Given the description of an element on the screen output the (x, y) to click on. 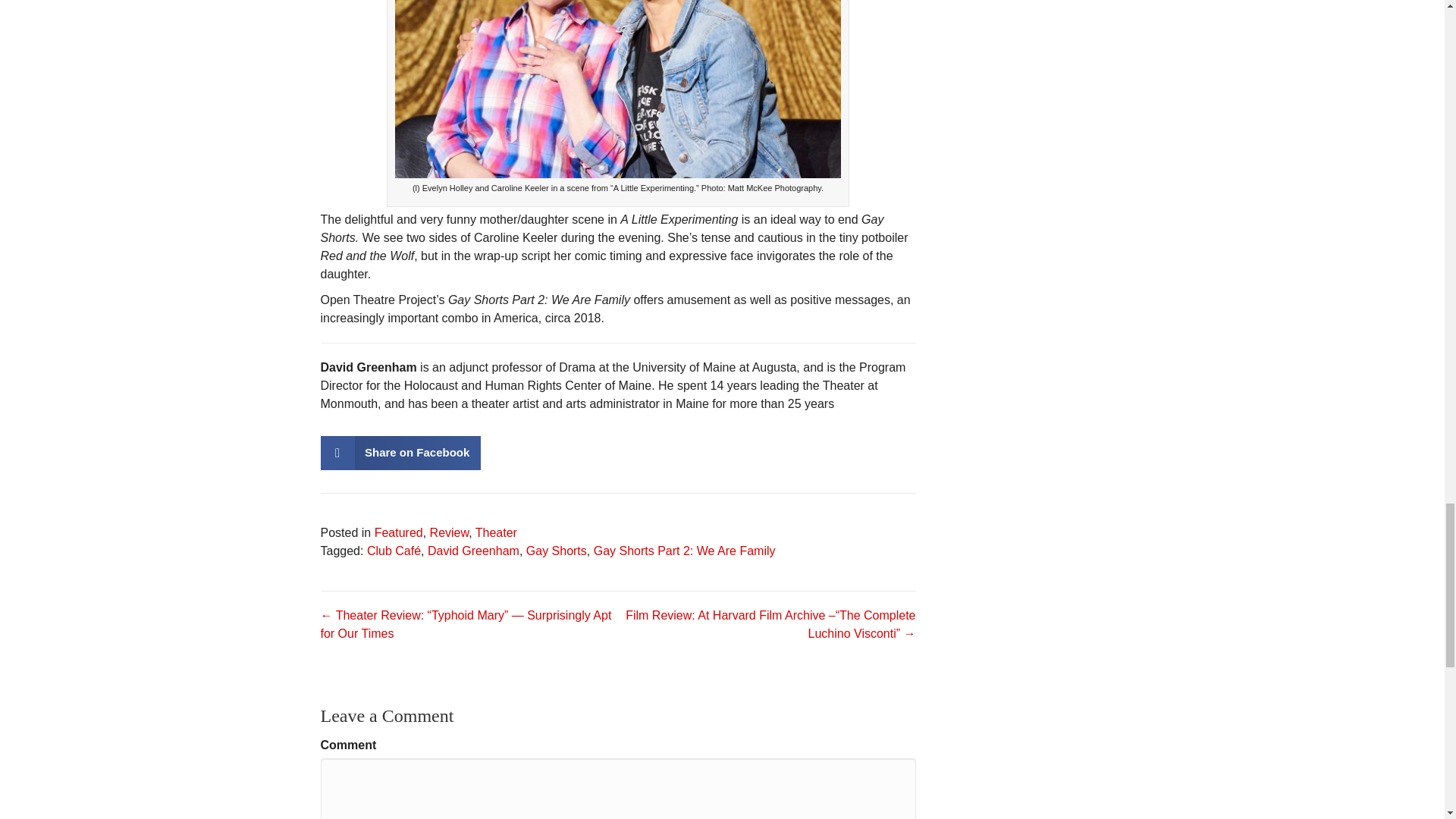
Theater (496, 532)
Review (448, 532)
Gay Shorts Part 2: We Are Family (685, 550)
Share on Facebook (400, 452)
Featured (398, 532)
Gay Shorts (555, 550)
David Greenham (473, 550)
